Given the description of an element on the screen output the (x, y) to click on. 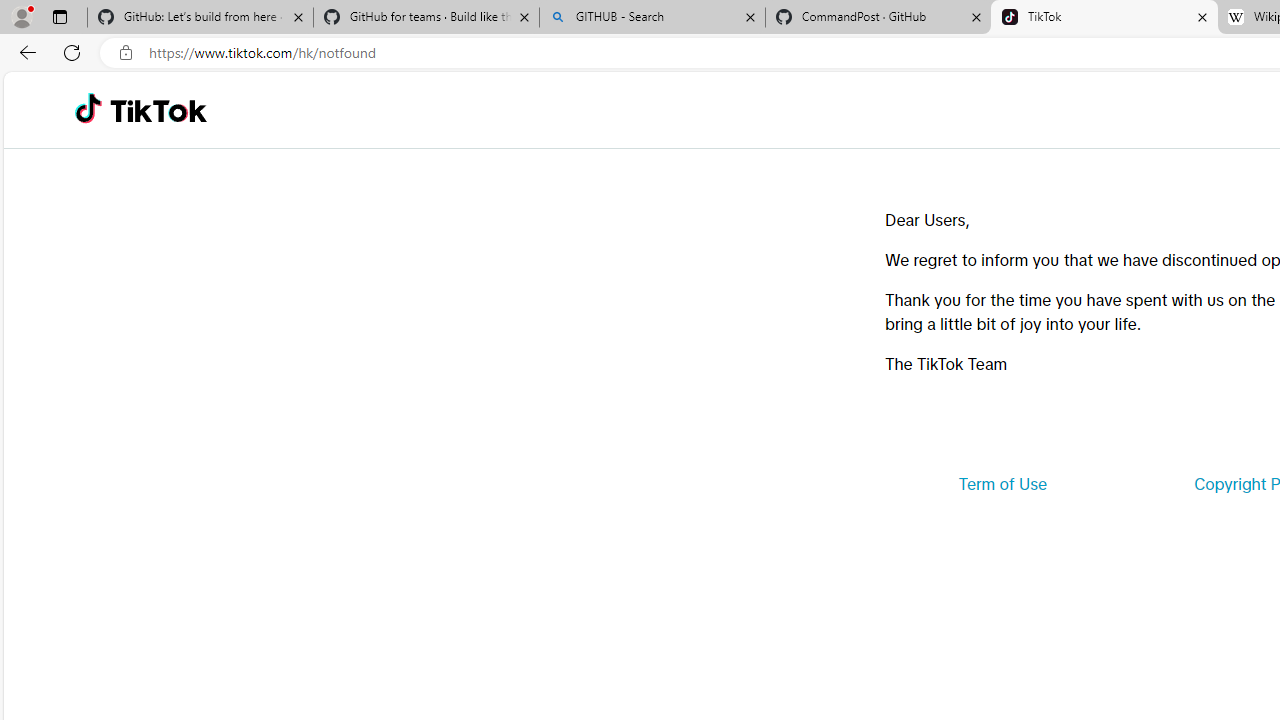
Close tab (1202, 16)
View site information (125, 53)
Back (24, 52)
Term of Use (1002, 484)
TikTok (1104, 17)
TikTok (158, 110)
Refresh (72, 52)
GITHUB - Search (652, 17)
Tab actions menu (59, 16)
